Given the description of an element on the screen output the (x, y) to click on. 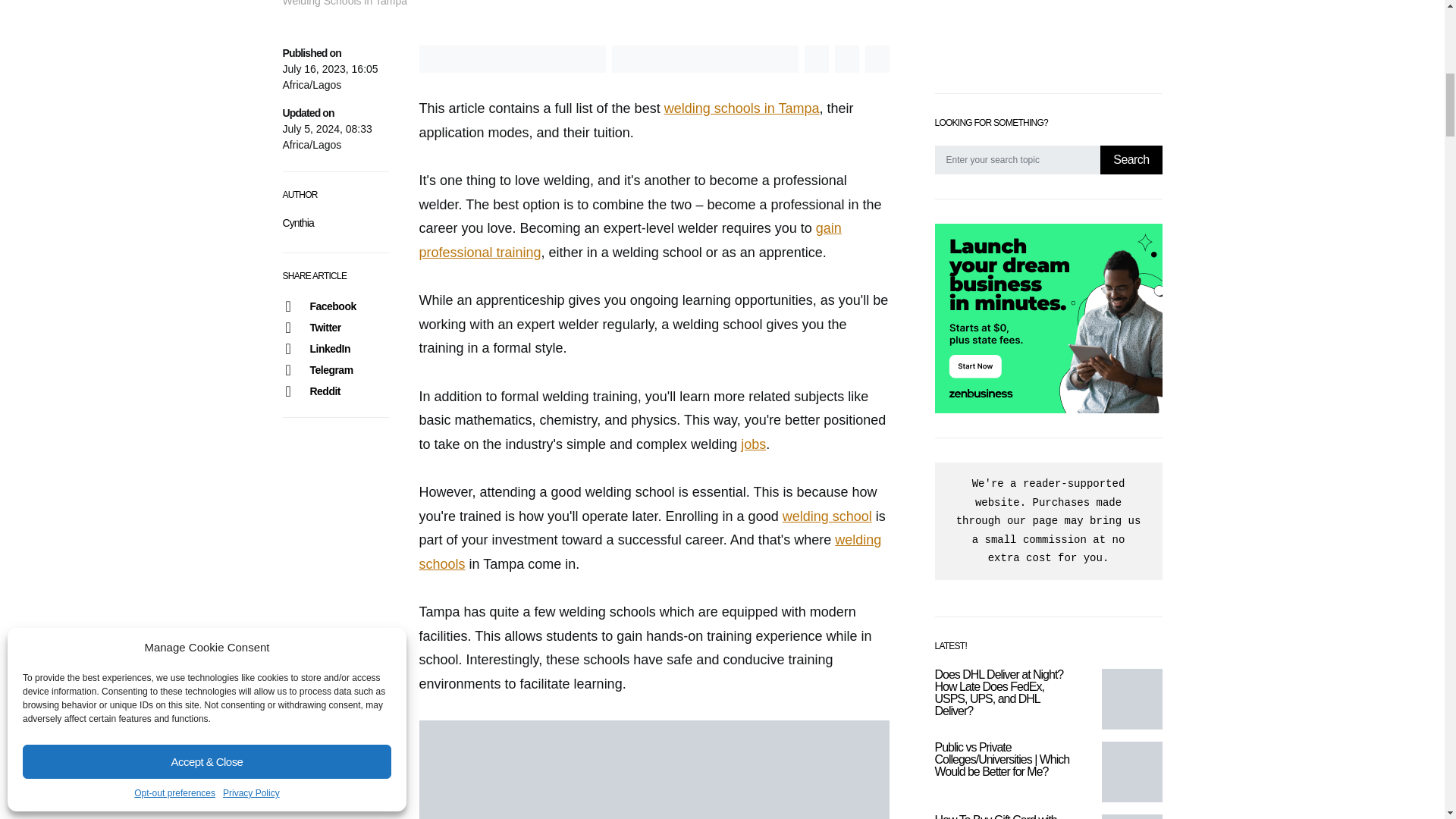
Posts tagged with welding schools (649, 551)
Posts tagged with Welding Schools in Tampa (741, 108)
Posts tagged with Jobs (753, 444)
